Given the description of an element on the screen output the (x, y) to click on. 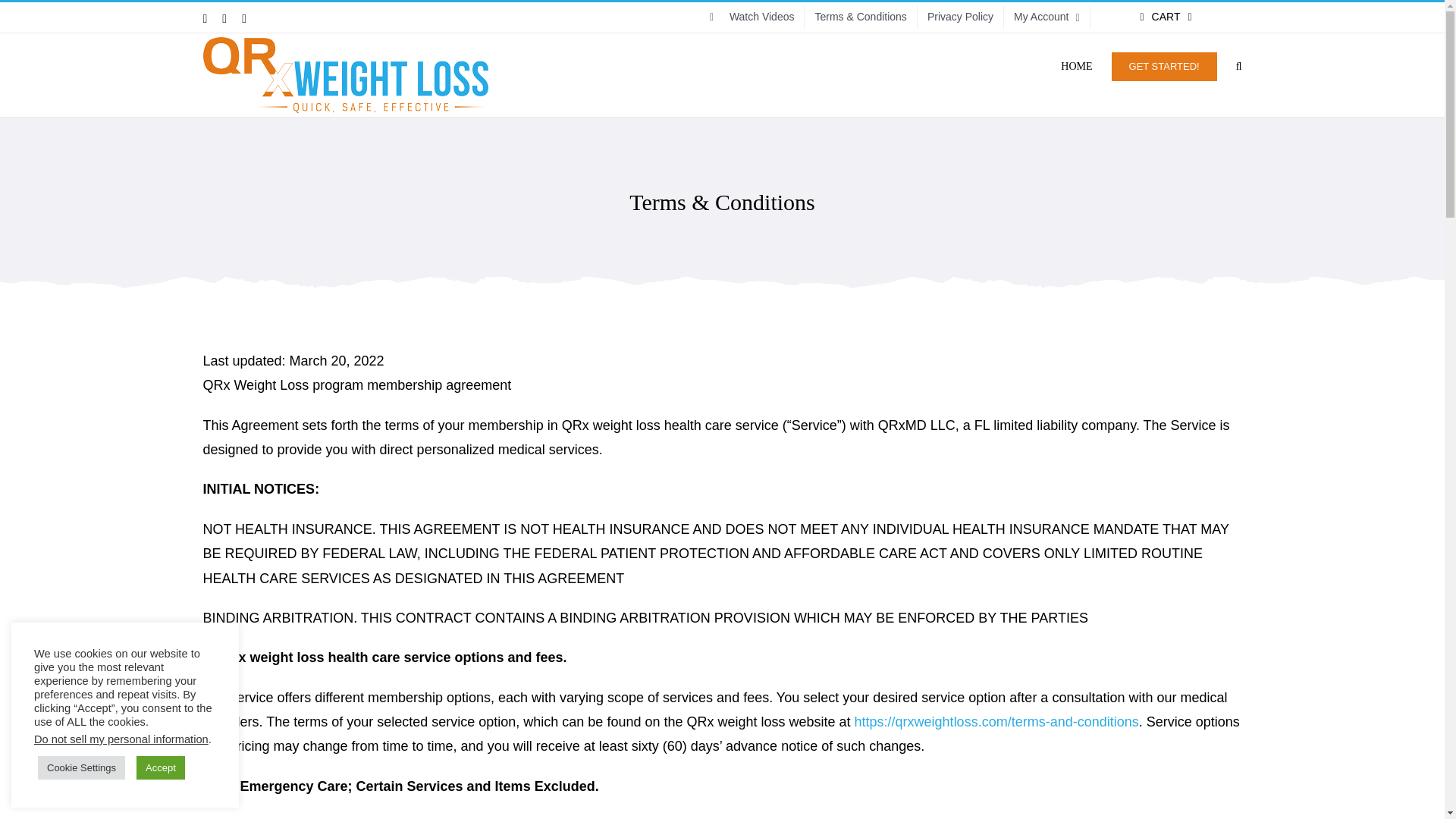
My Account (1046, 16)
Watch Videos (752, 16)
GET STARTED! (1164, 65)
Privacy Policy (960, 16)
CART (1165, 16)
Log In (1112, 171)
